Given the description of an element on the screen output the (x, y) to click on. 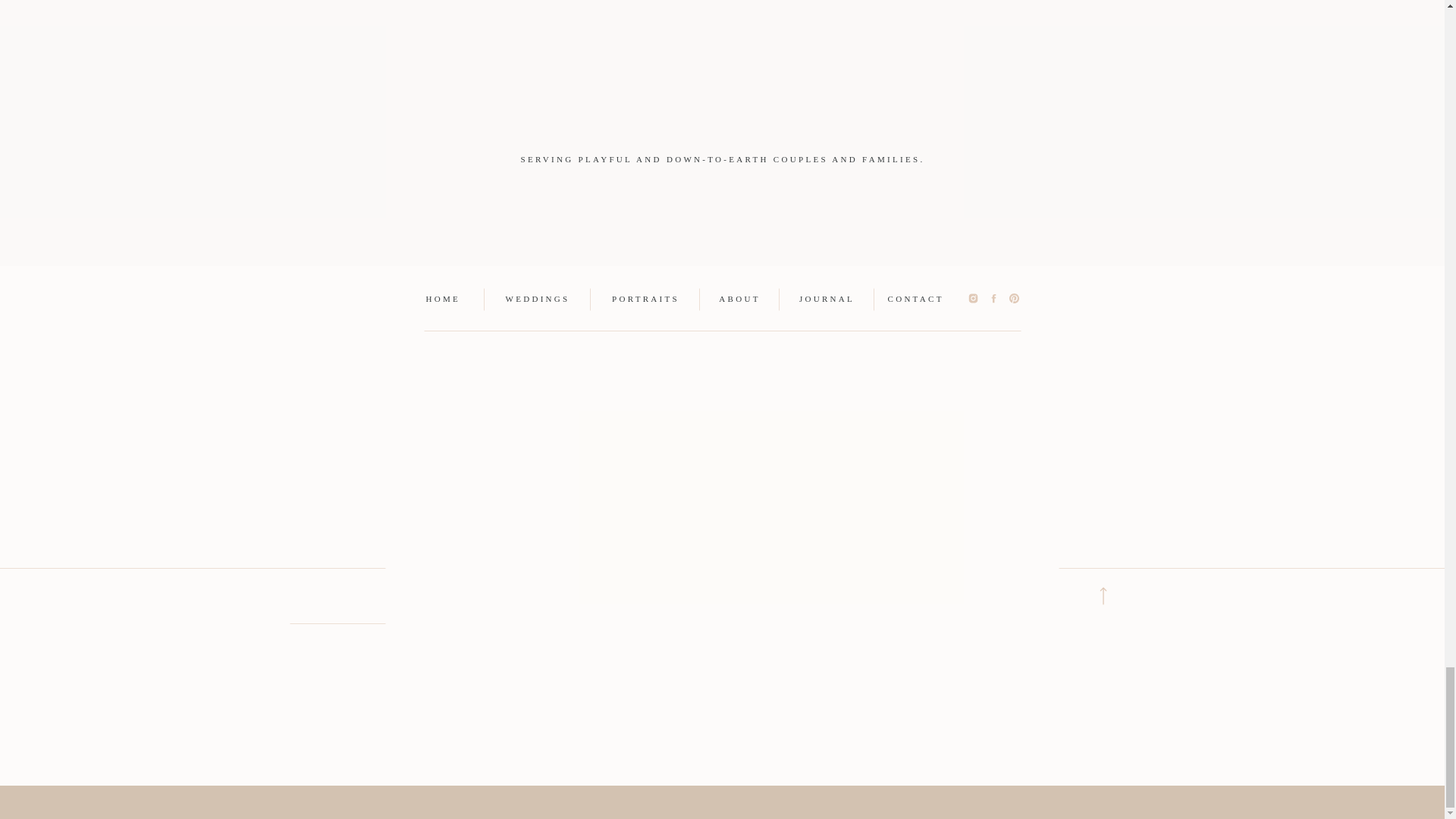
PORTRAITS (645, 297)
CONTACT (914, 297)
ABOUT (739, 297)
JOURNAL (827, 297)
WEDDINGS (536, 297)
HOME (448, 297)
